Given the description of an element on the screen output the (x, y) to click on. 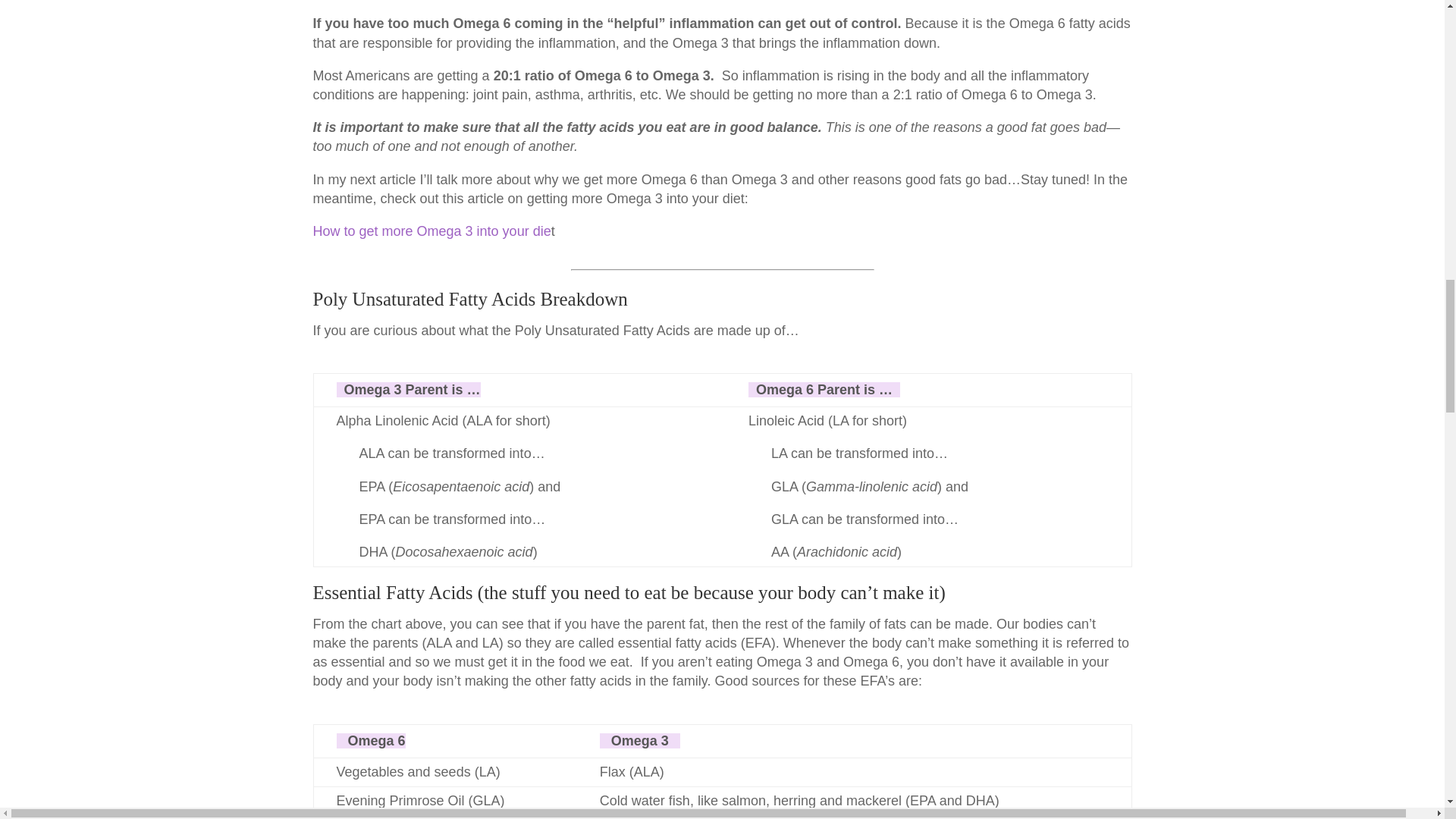
How to get more Omega 3 into your die (431, 231)
How to Get More Omega 3 Into Your Diet (431, 231)
